Given the description of an element on the screen output the (x, y) to click on. 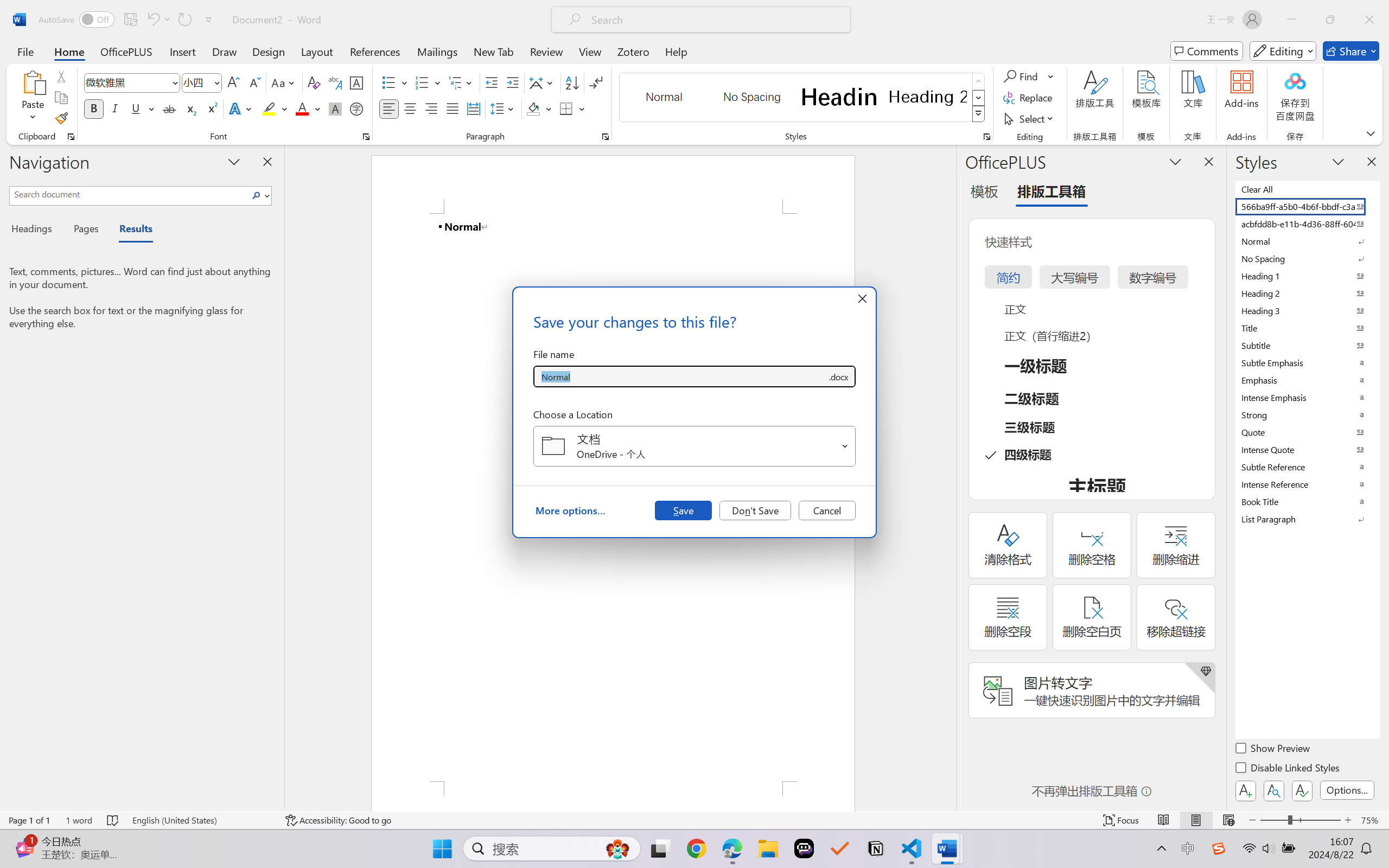
AutomationID: BadgeAnchorLargeTicker (24, 836)
Pages (85, 229)
AutomationID: DynamicSearchBoxGleamImage (617, 848)
List Paragraph (1306, 518)
Zoom (1300, 819)
Draw (224, 51)
Show Preview (1273, 749)
Results (130, 229)
Subscript (190, 108)
Distributed (473, 108)
Home (69, 51)
